Given the description of an element on the screen output the (x, y) to click on. 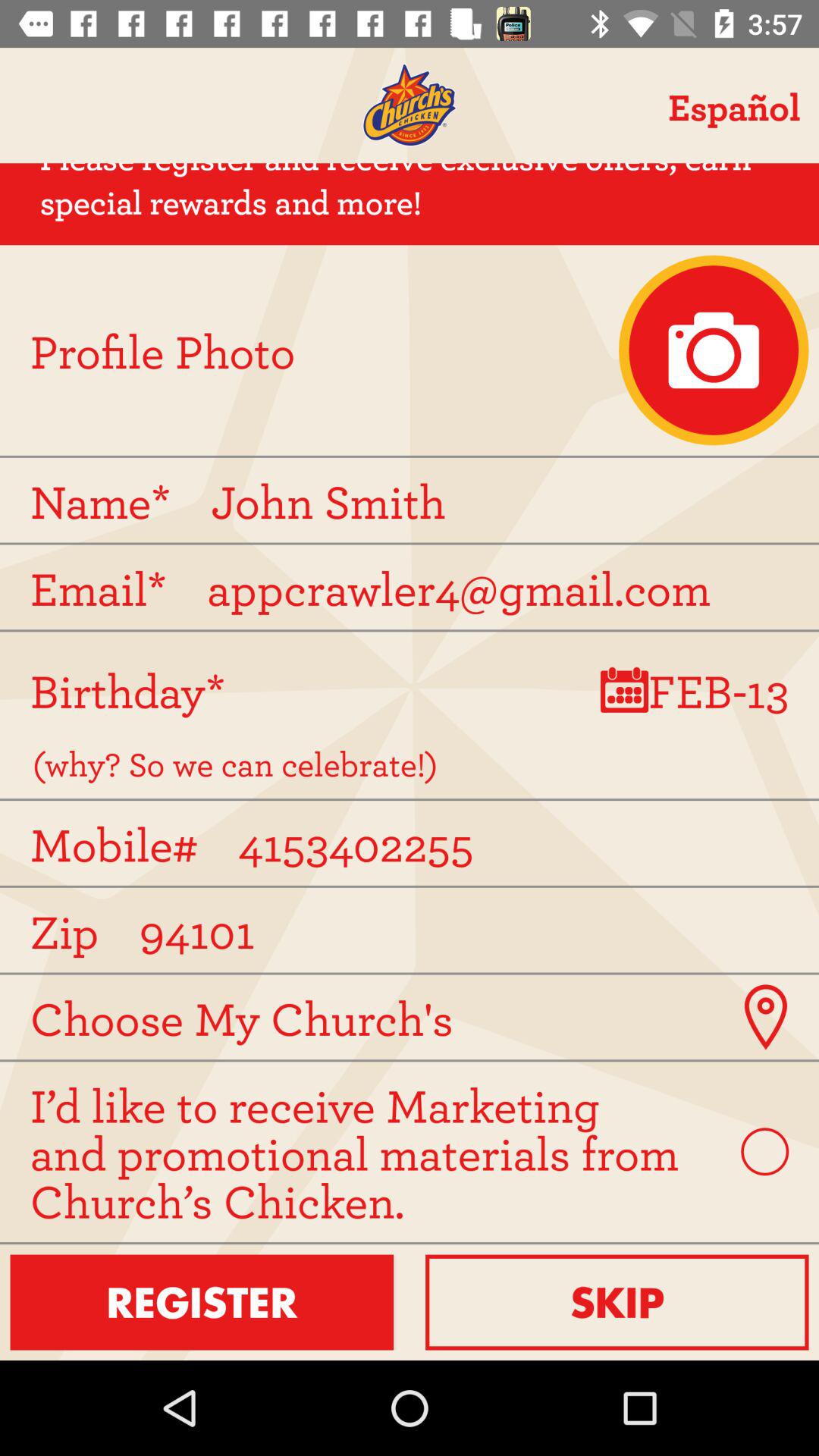
place on a map (765, 1017)
